Given the description of an element on the screen output the (x, y) to click on. 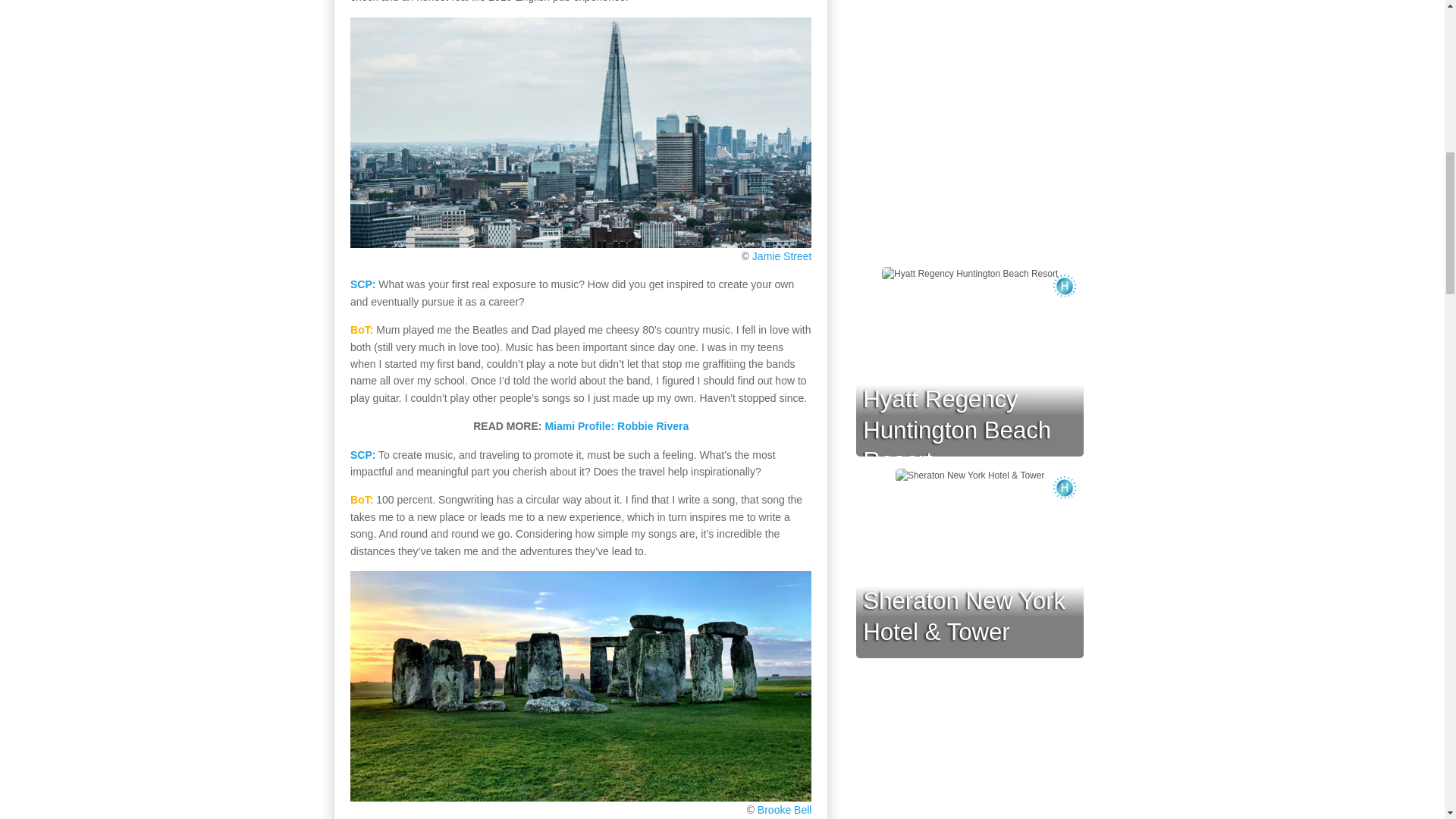
Brooke Bell (784, 809)
BoT: (361, 329)
Hyatt Regency Huntington Beach Resort (957, 429)
Jamie Street (782, 256)
Miami Profile: Robbie Rivera (616, 426)
SCP: (362, 284)
SCP: (362, 454)
BoT: (361, 499)
